Given the description of an element on the screen output the (x, y) to click on. 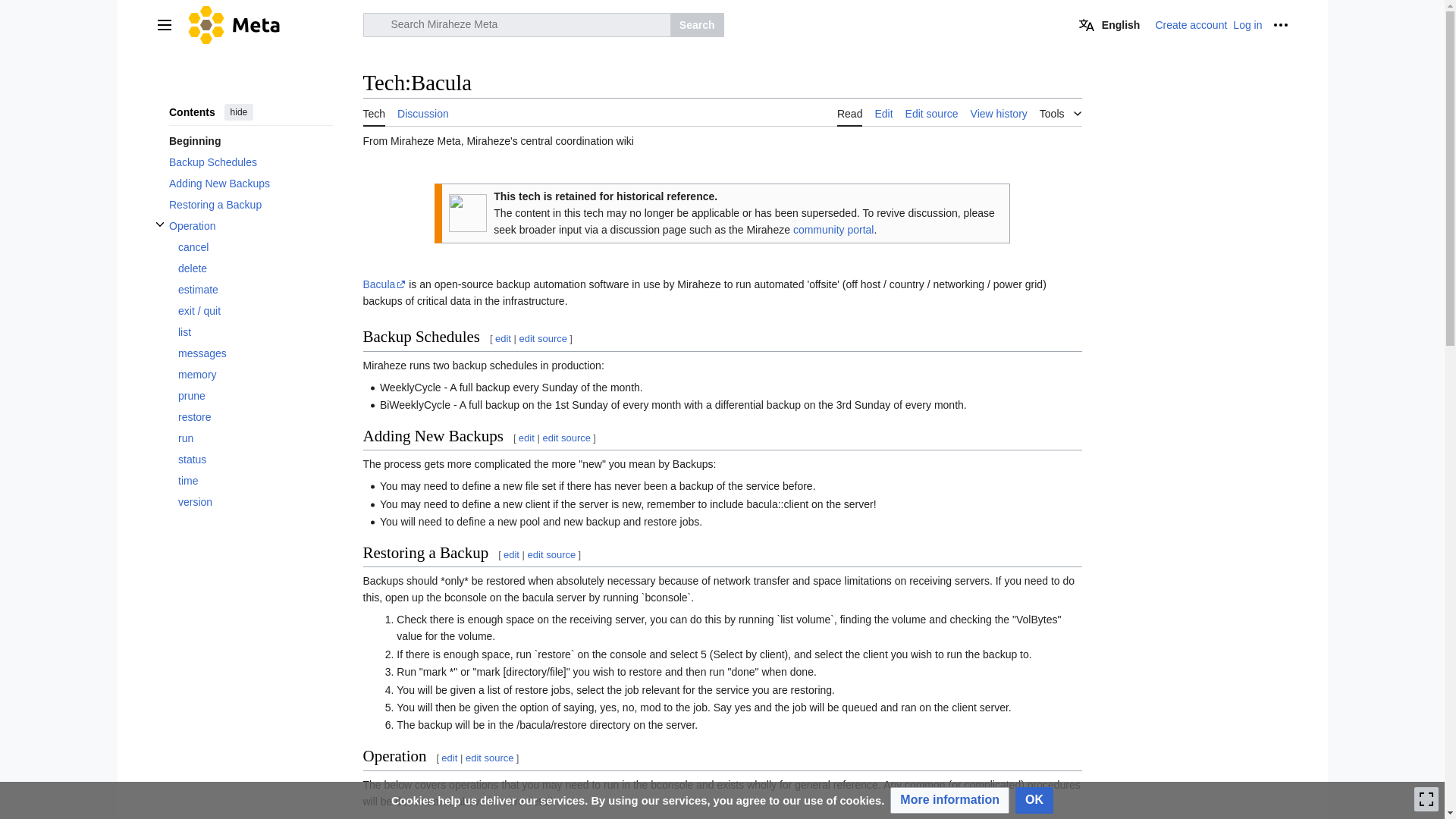
More options (1280, 24)
Search (696, 24)
Toggle Operation subsection (159, 224)
hide (238, 112)
Adding New Backups (249, 183)
Restoring a Backup (249, 204)
English (1110, 24)
Backup Schedules (249, 161)
Log in (1247, 24)
Operation (249, 225)
